Given the description of an element on the screen output the (x, y) to click on. 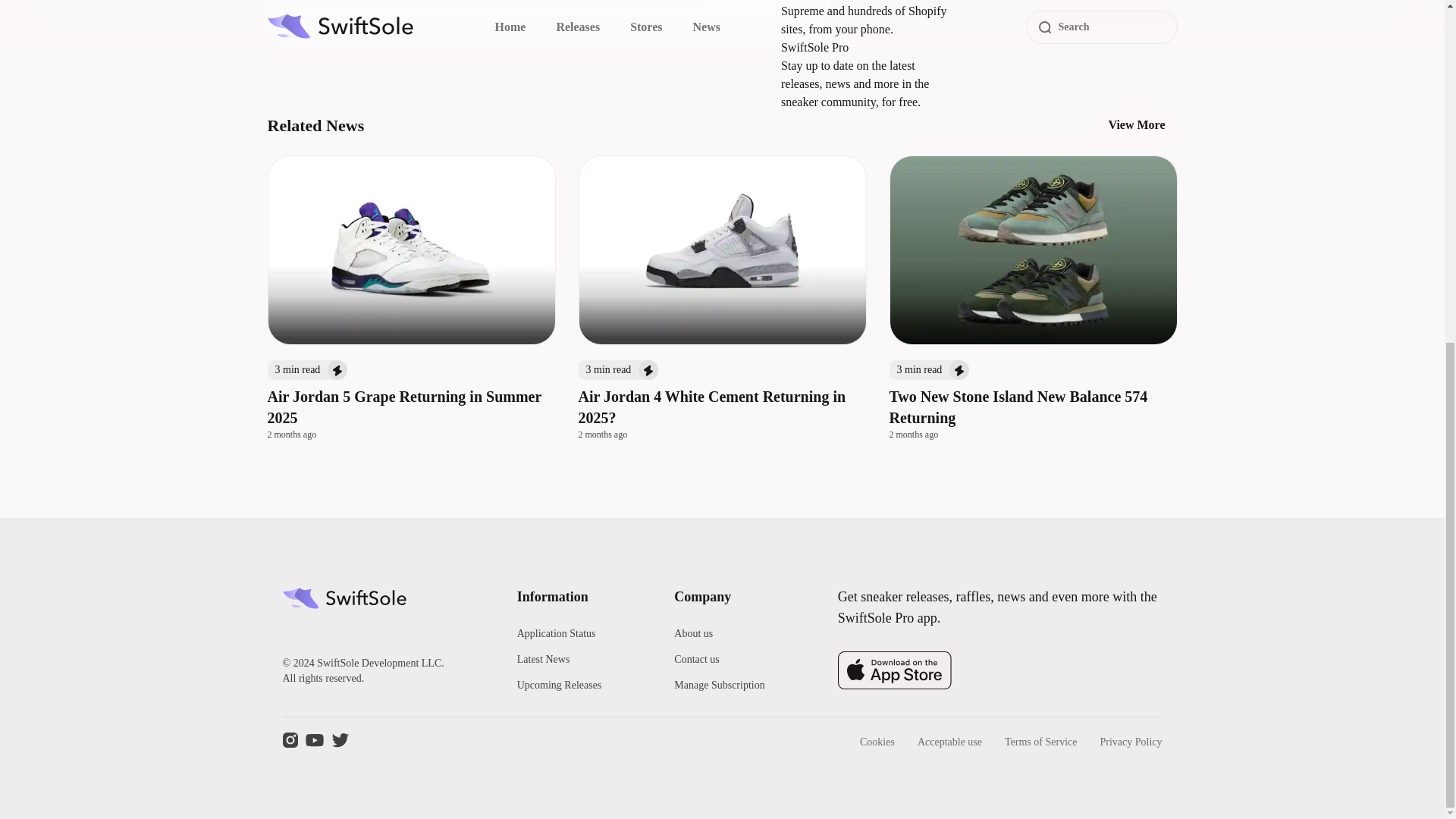
View More (1136, 124)
Upcoming Releases (559, 685)
Latest News (543, 659)
About us (693, 633)
Application Status (555, 633)
